Given the description of an element on the screen output the (x, y) to click on. 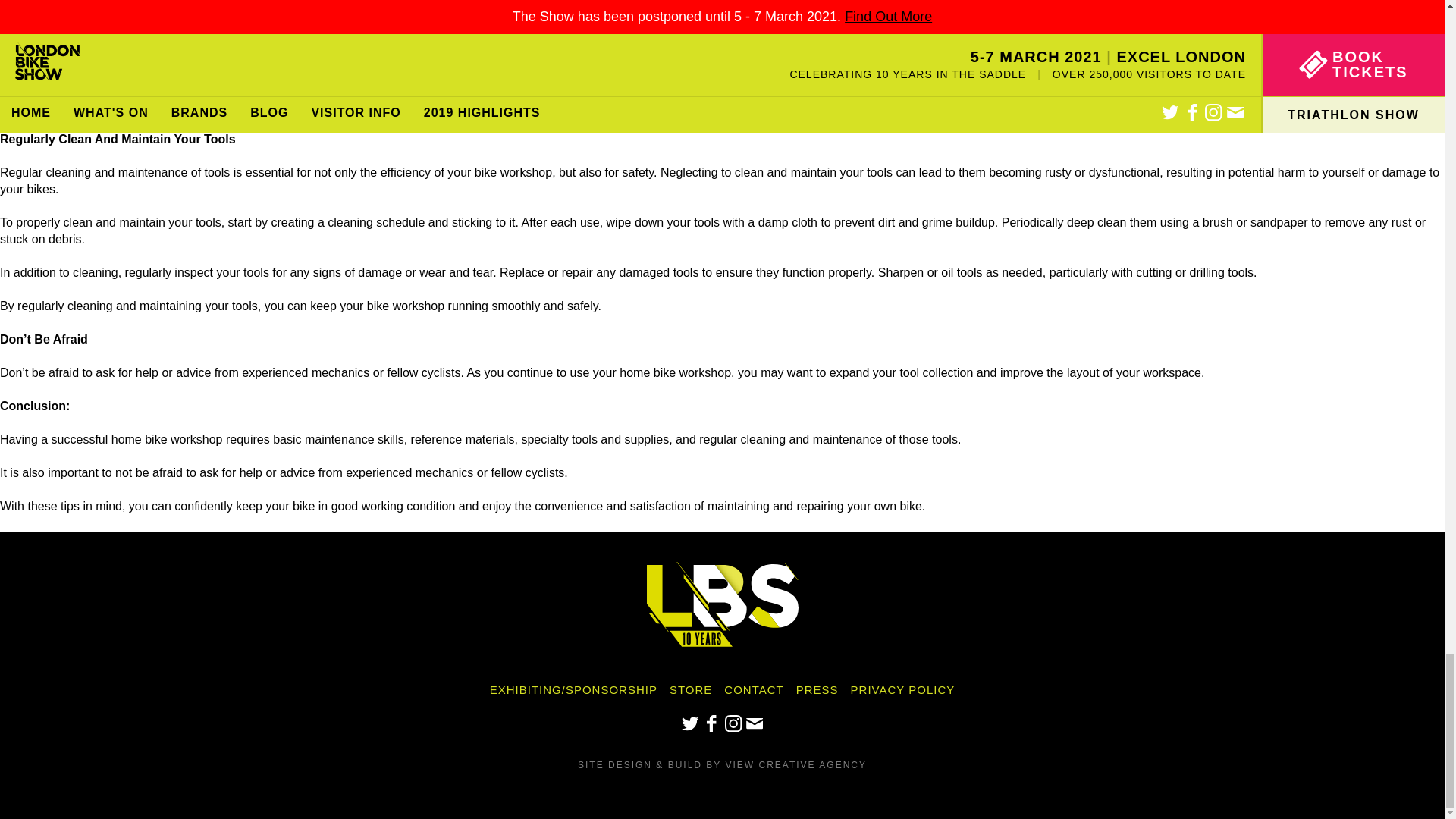
PRIVACY POLICY (902, 689)
PRESS (817, 689)
CONTACT (753, 689)
STORE (690, 689)
VIEW CREATIVE AGENCY (795, 765)
